Given the description of an element on the screen output the (x, y) to click on. 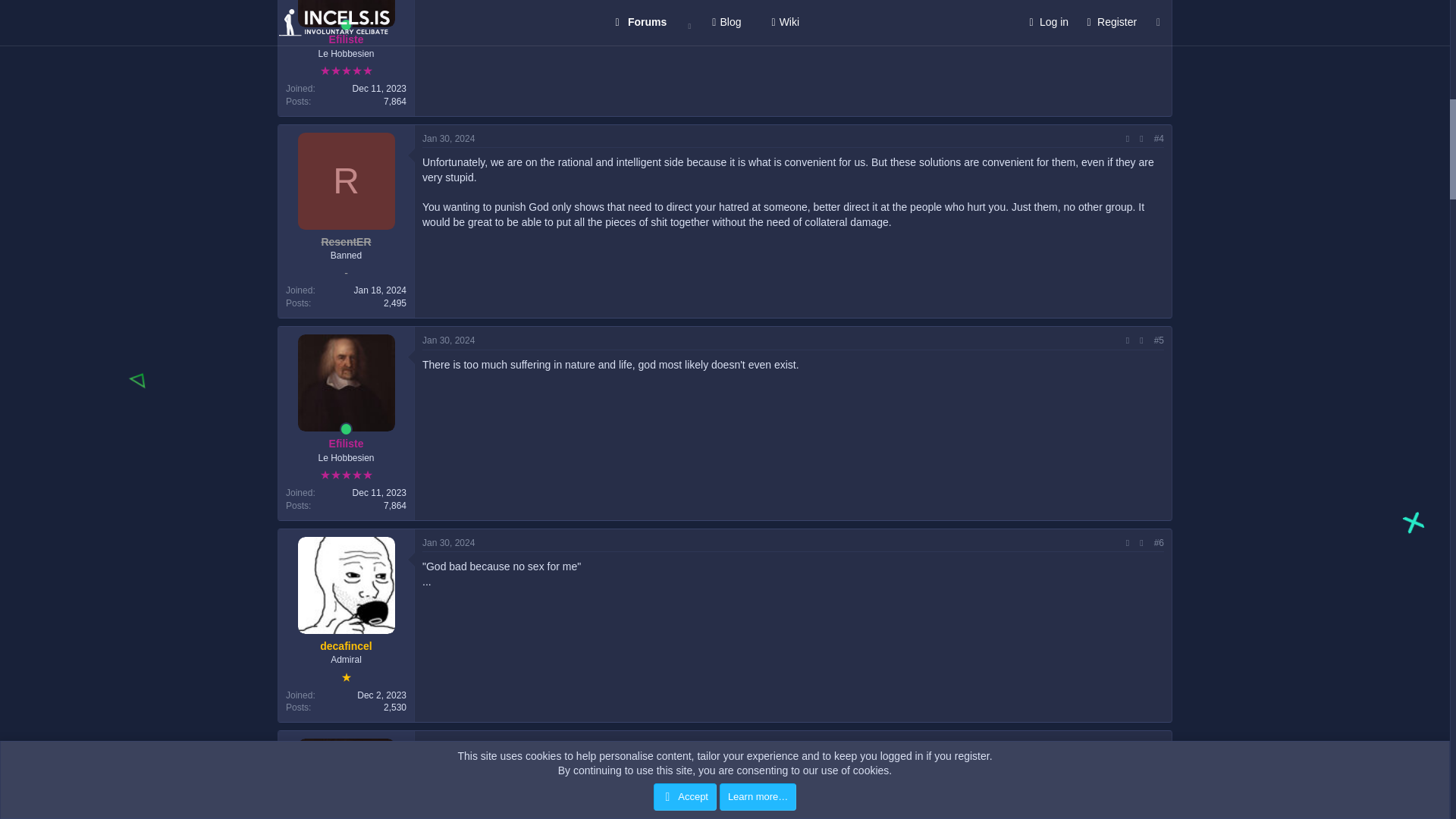
Jan 30, 2024 at 12:03 AM (448, 339)
Jan 30, 2024 at 12:04 AM (448, 542)
Online now (346, 428)
Jan 30, 2024 at 12:04 AM (448, 744)
Jan 30, 2024 at 12:03 AM (448, 138)
Online now (346, 24)
